Given the description of an element on the screen output the (x, y) to click on. 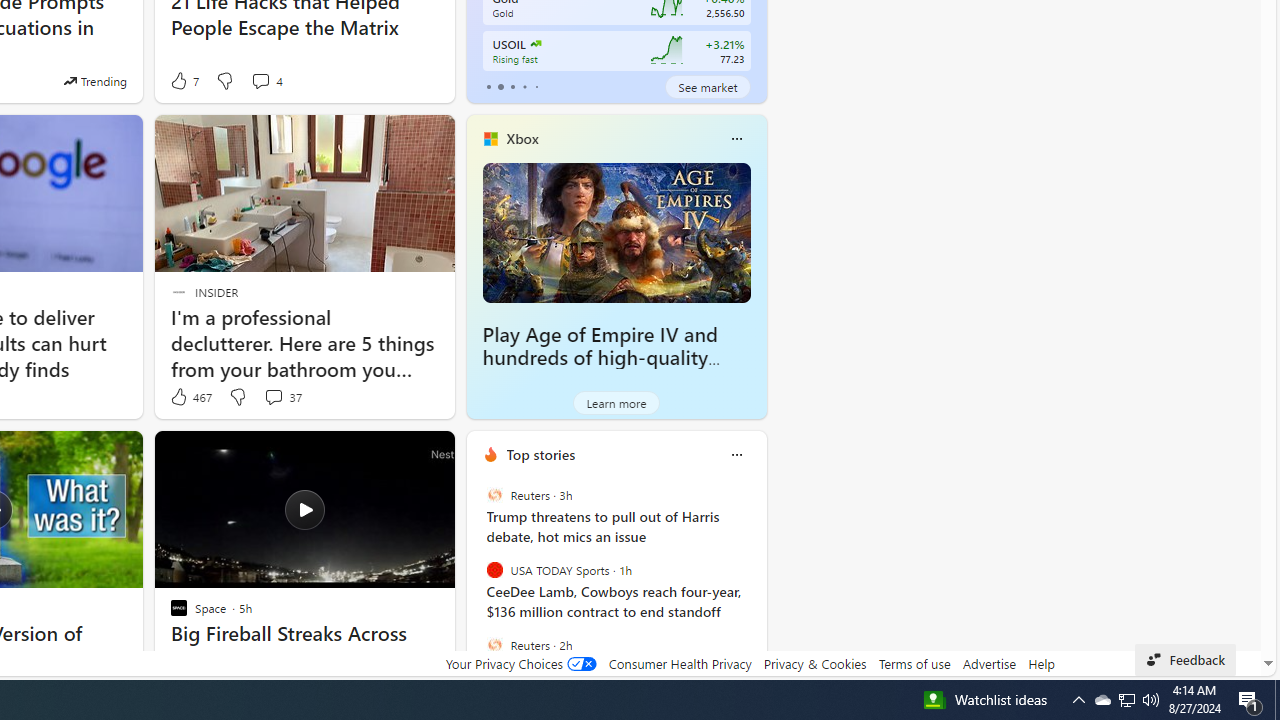
7 Like (183, 80)
Class: icon-img (736, 454)
Consumer Health Privacy (680, 663)
Hide this story (393, 454)
tab-0 (488, 86)
View comments 4 Comment (260, 80)
